Given the description of an element on the screen output the (x, y) to click on. 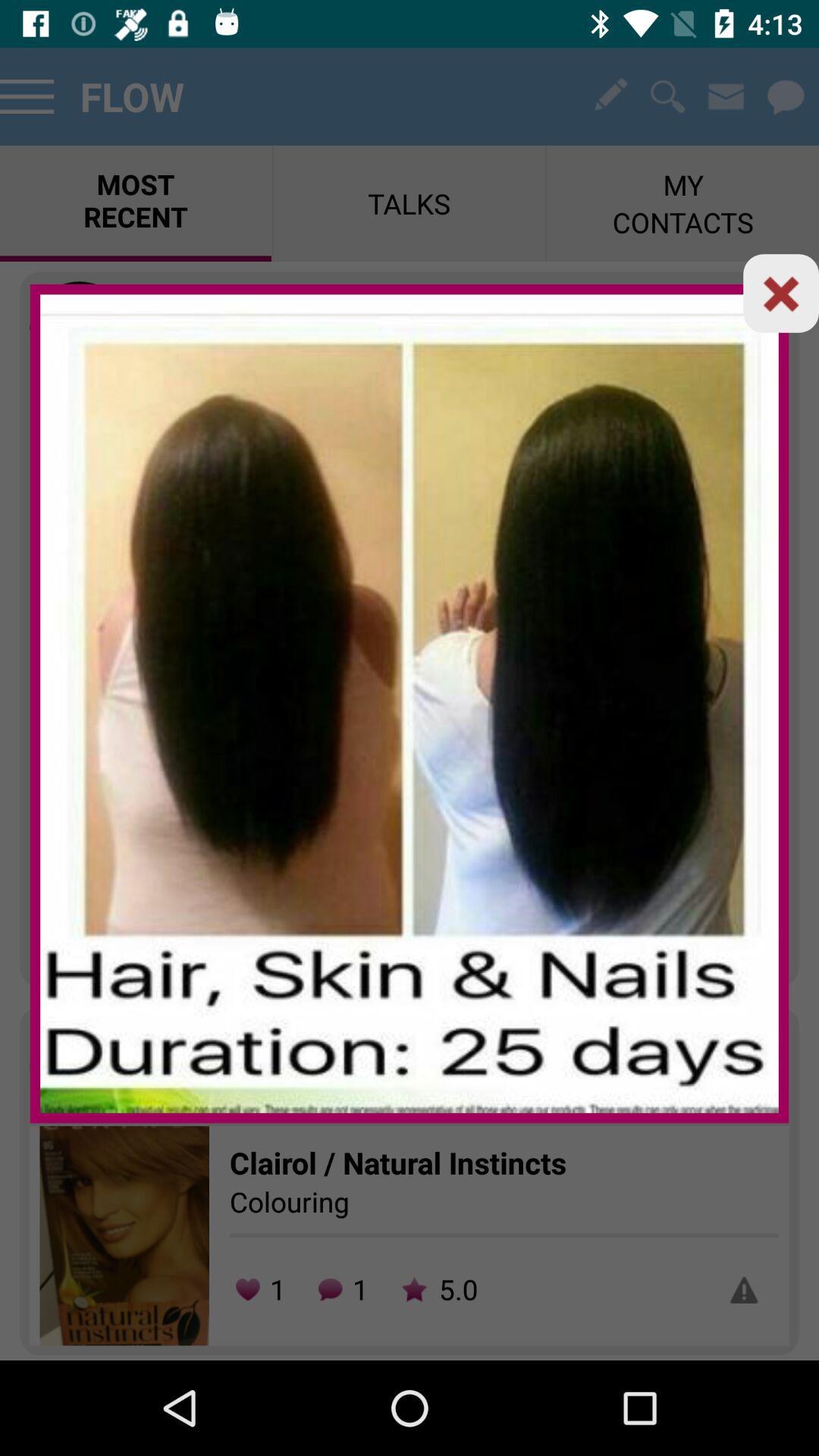
close tab (781, 293)
